Given the description of an element on the screen output the (x, y) to click on. 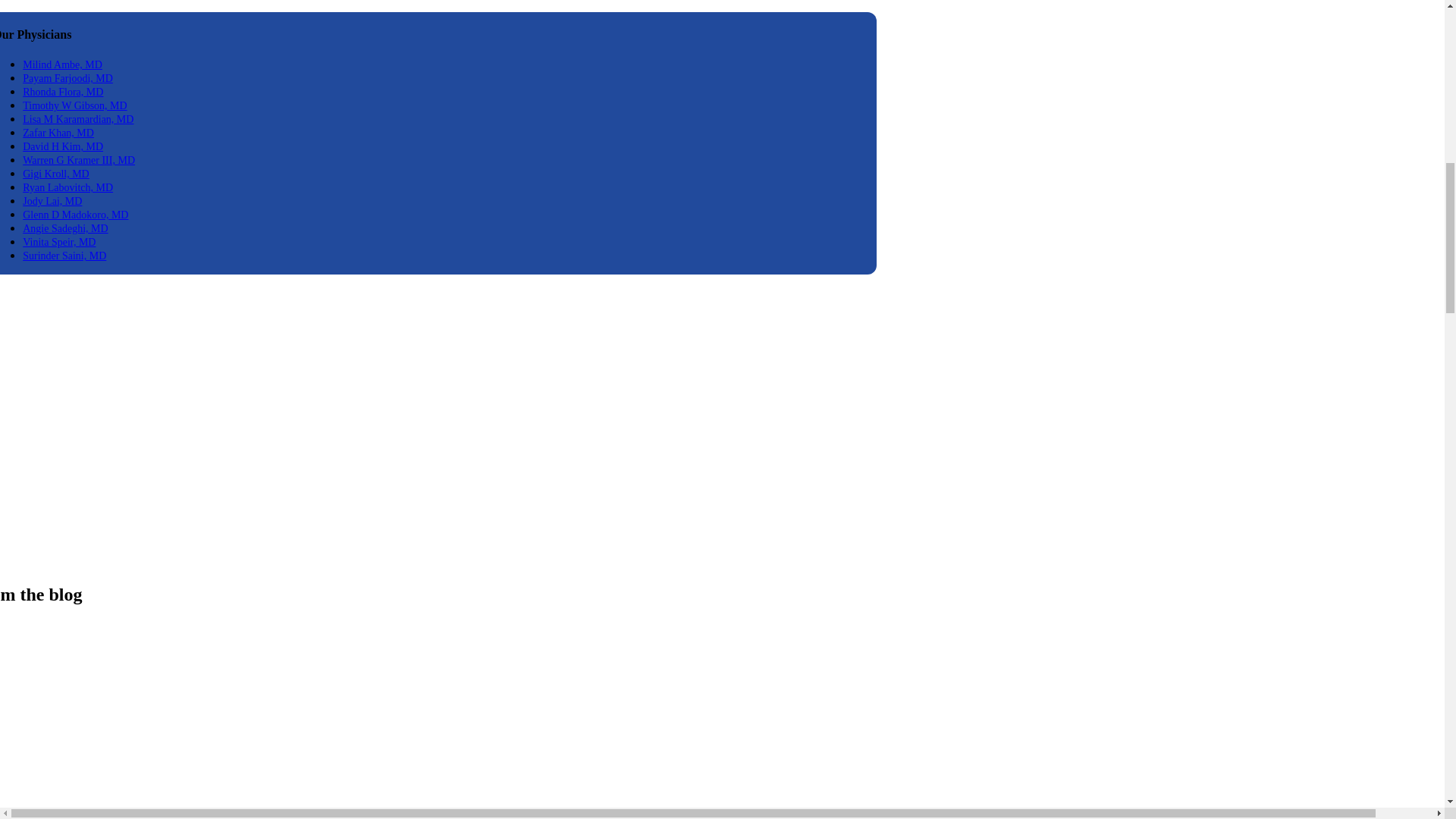
Rhonda Flora, MD (63, 91)
Gigi Kroll, MD (55, 173)
Payam Farjoodi, MD (68, 78)
Vinita Speir, MD (59, 242)
Glenn D Madokoro, MD (75, 214)
Angie Sadeghi, MD (65, 228)
Ryan Labovitch, MD (68, 187)
Lisa M Karamardian, MD (78, 119)
Jody Lai, MD (52, 201)
David H Kim, MD (63, 146)
Zafar Khan, MD (58, 132)
Surinder Saini, MD (64, 255)
Warren G Kramer III, MD (79, 160)
Milind Ambe, MD (62, 64)
Timothy W Gibson, MD (74, 105)
